Given the description of an element on the screen output the (x, y) to click on. 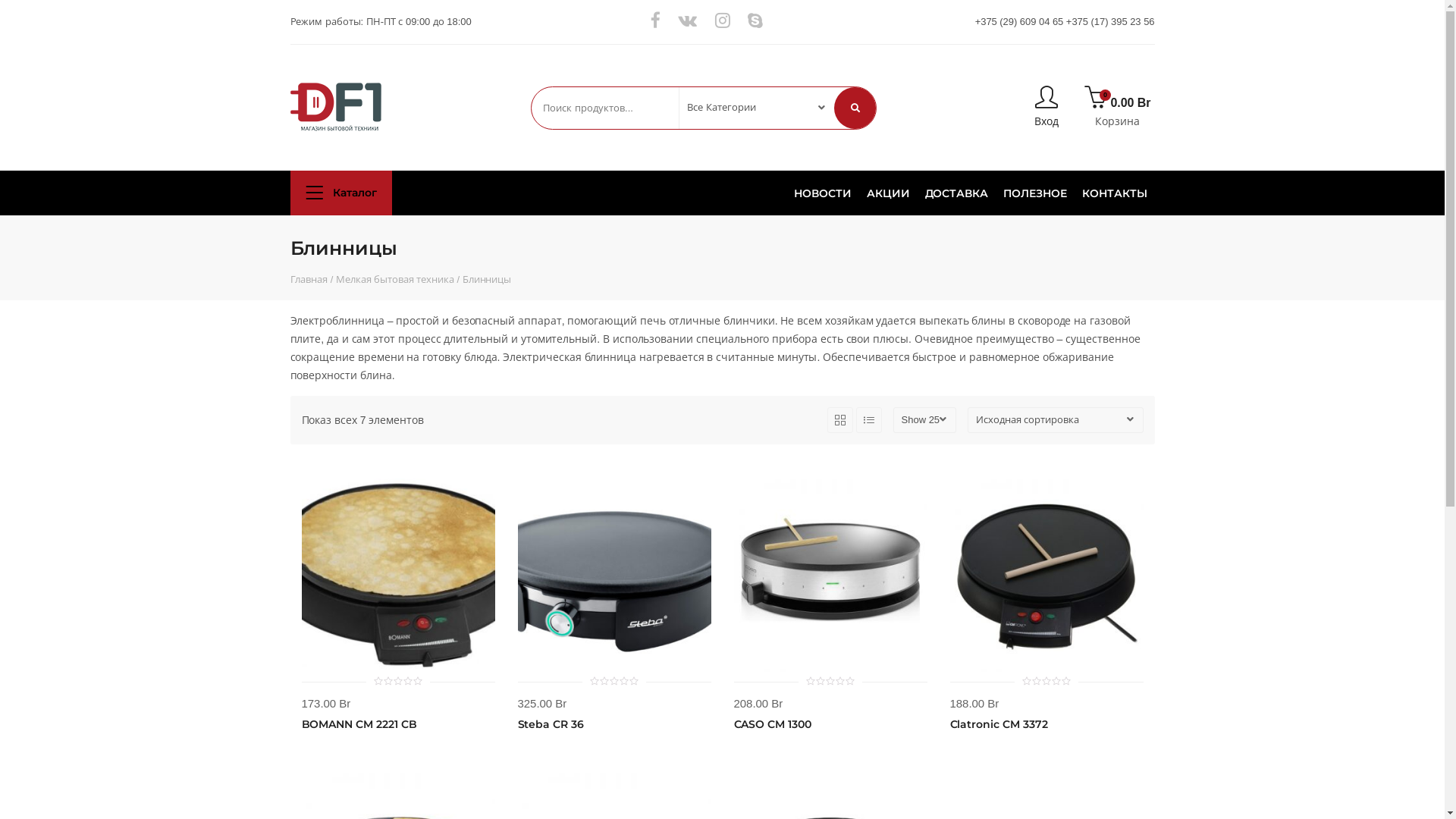
BOMANN CM 2221 CB Element type: text (359, 724)
No rating Element type: hover (1046, 681)
No rating Element type: hover (614, 681)
CASO CM 1300 Element type: text (772, 724)
No rating Element type: hover (398, 681)
Clatronic CM 3372 Element type: text (998, 724)
No rating Element type: hover (830, 681)
0
0.00 Br Element type: text (1117, 97)
+375 (29) 609 04 65 Element type: text (1019, 21)
Steba CR 36 Element type: text (550, 724)
+375 (17) 395 23 56 Element type: text (1110, 21)
